Given the description of an element on the screen output the (x, y) to click on. 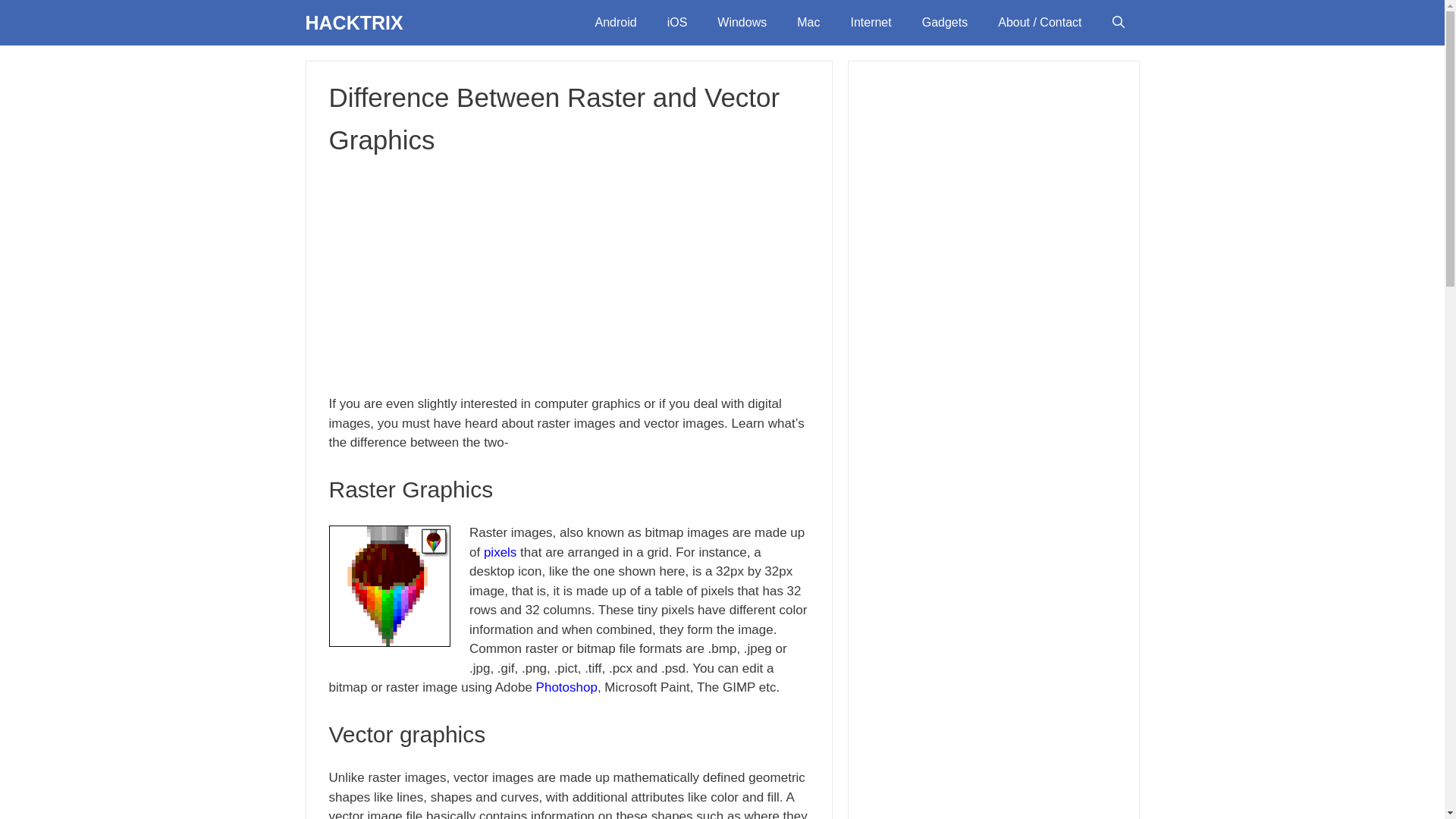
Windows (741, 22)
iOS (677, 22)
Gadgets (944, 22)
Mac (807, 22)
Internet (869, 22)
Android (614, 22)
Photoshop (565, 687)
pixels (499, 551)
difference in vector and bitmap images (389, 586)
Advertisement (569, 274)
